Given the description of an element on the screen output the (x, y) to click on. 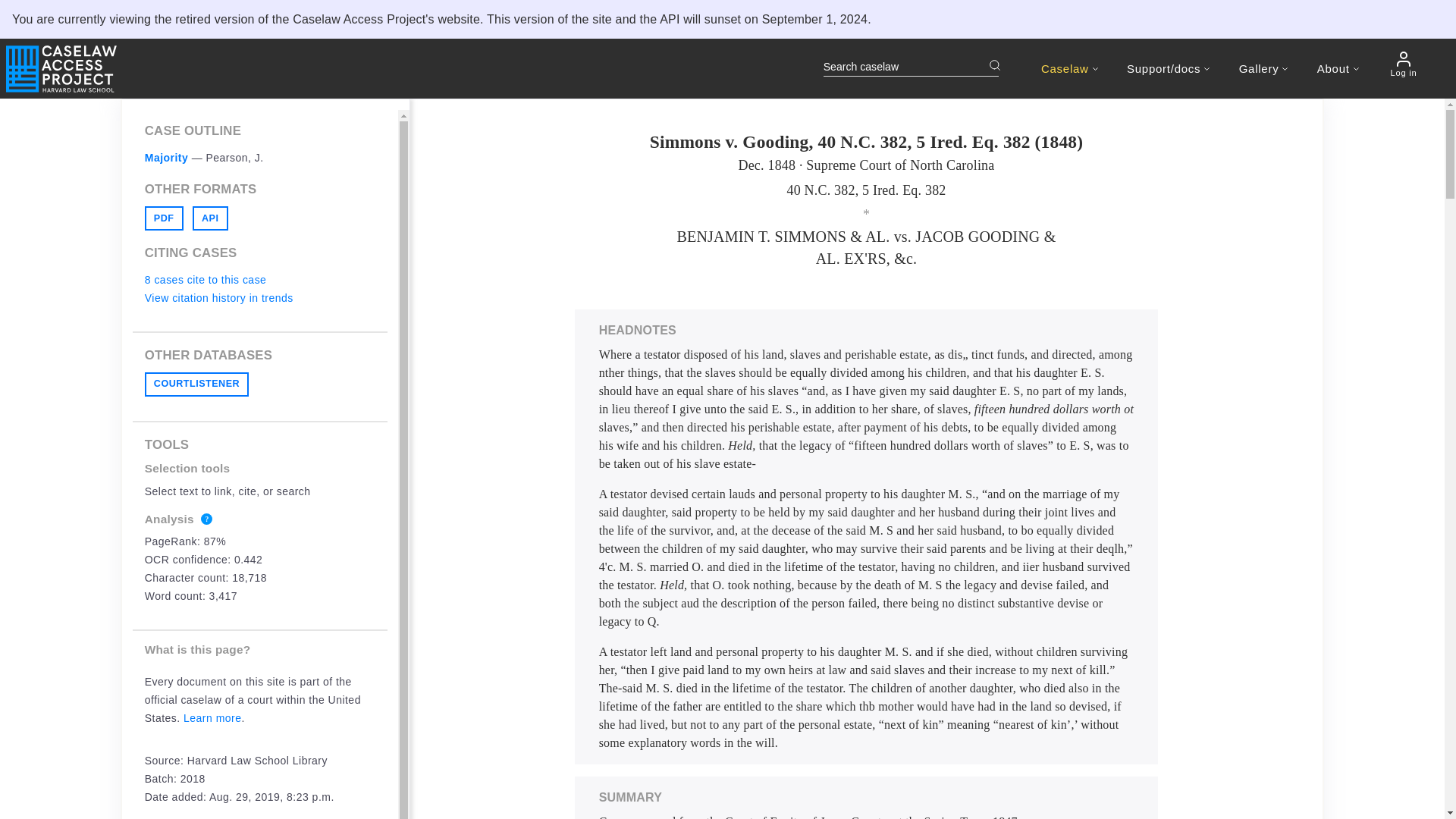
About (1338, 68)
Caselaw (1069, 68)
COURTLISTENER (196, 384)
Majority (166, 157)
View citation history in trends (219, 297)
Gallery (1263, 68)
Learn more (212, 717)
8 cases cite to this case (205, 279)
PDF (163, 218)
API (210, 218)
